Given the description of an element on the screen output the (x, y) to click on. 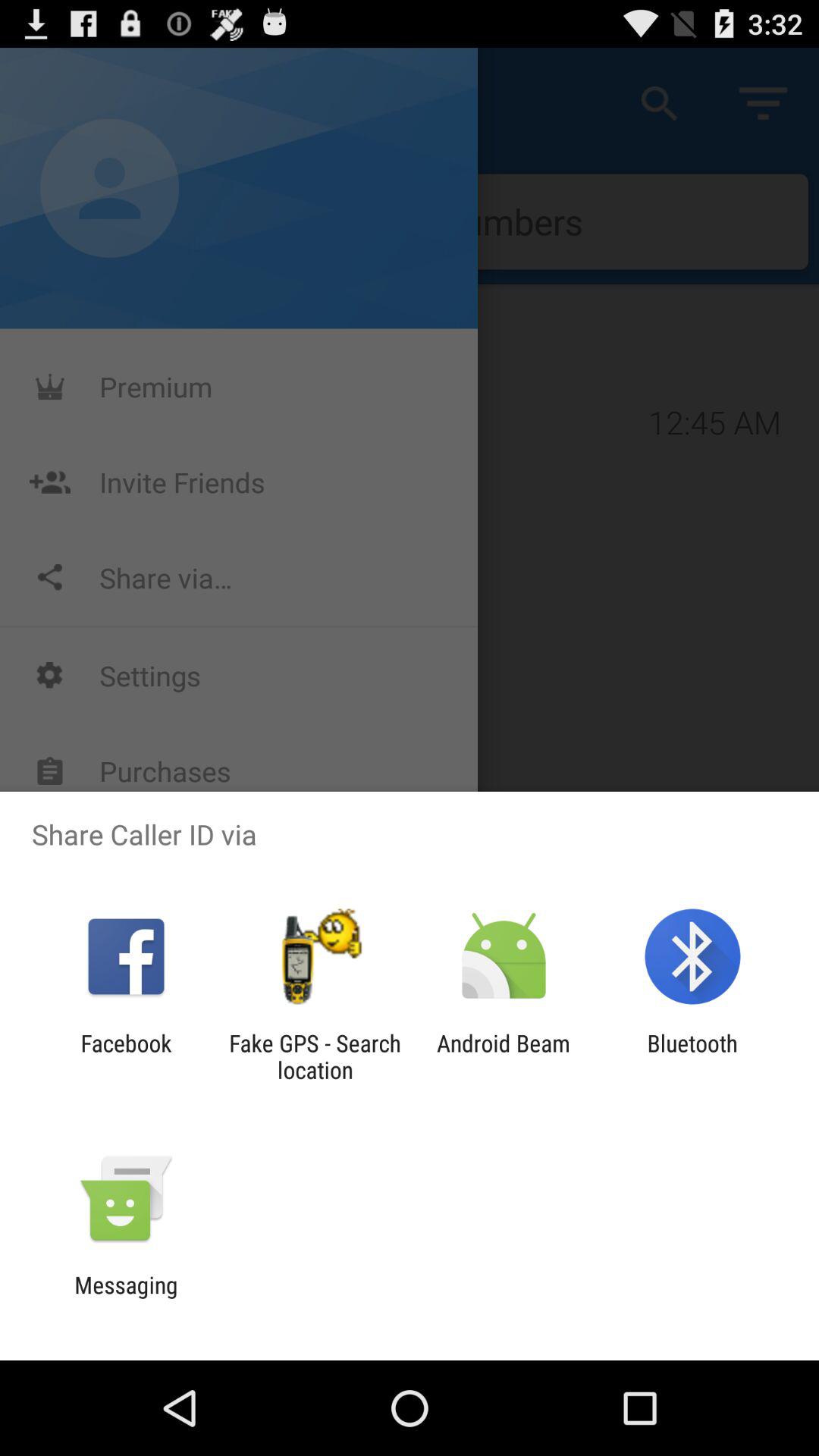
flip to the android beam icon (503, 1056)
